Given the description of an element on the screen output the (x, y) to click on. 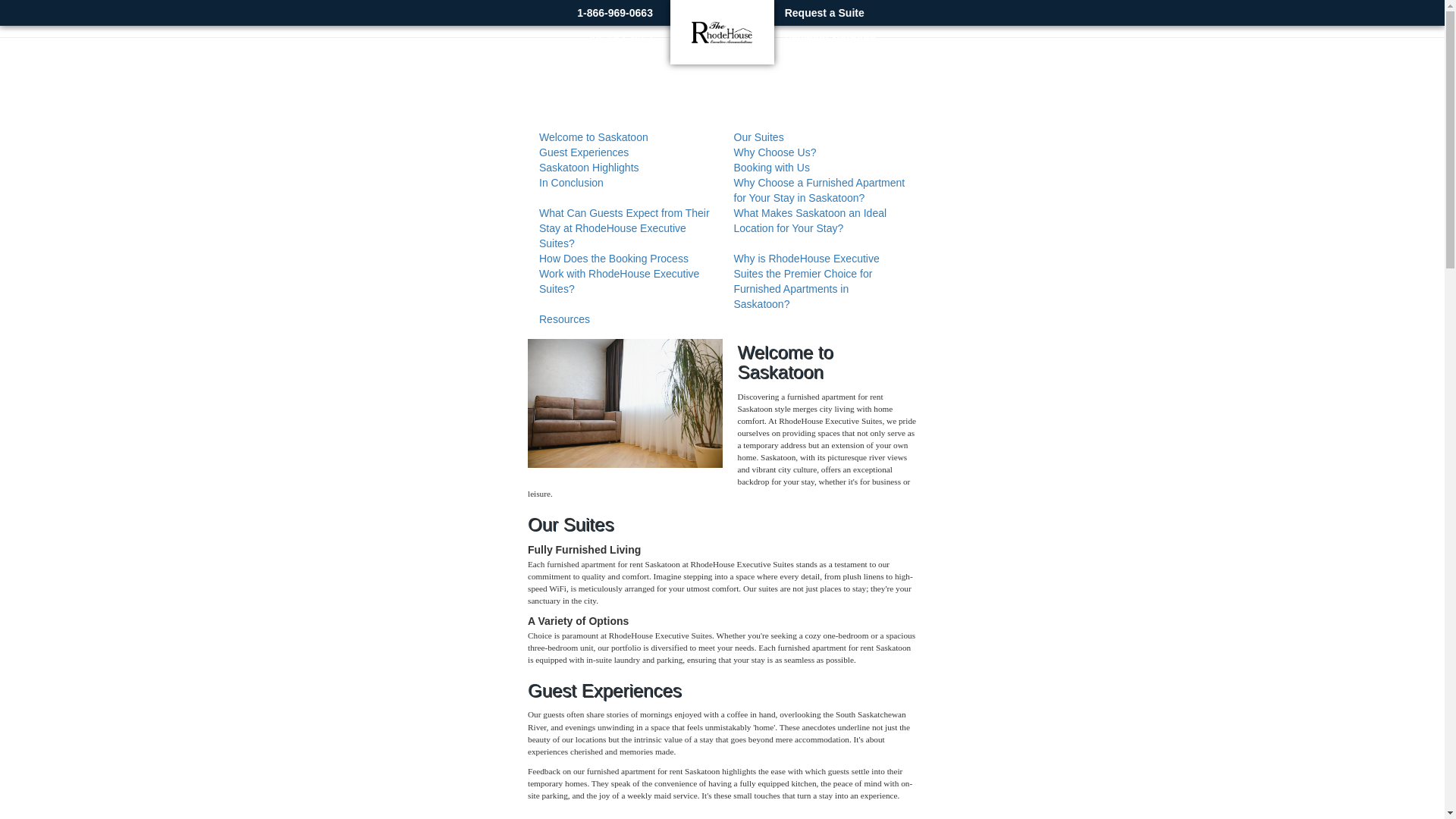
Request a Suite (823, 12)
Why Choose a Furnished Apartment for Your Stay in Saskatoon? (819, 189)
Payment Methods (829, 38)
1-866-969-0663 (614, 12)
Guest Experiences (583, 152)
What Makes Saskatoon an Ideal Location for Your Stay? (809, 220)
RhodeHouse Executive Suites (722, 30)
In Conclusion (571, 182)
Welcome to Saskatoon (592, 137)
Booking with Us (771, 167)
Resources (563, 318)
Why Choose Us? (774, 152)
Saskatoon Highlights (588, 167)
